Given the description of an element on the screen output the (x, y) to click on. 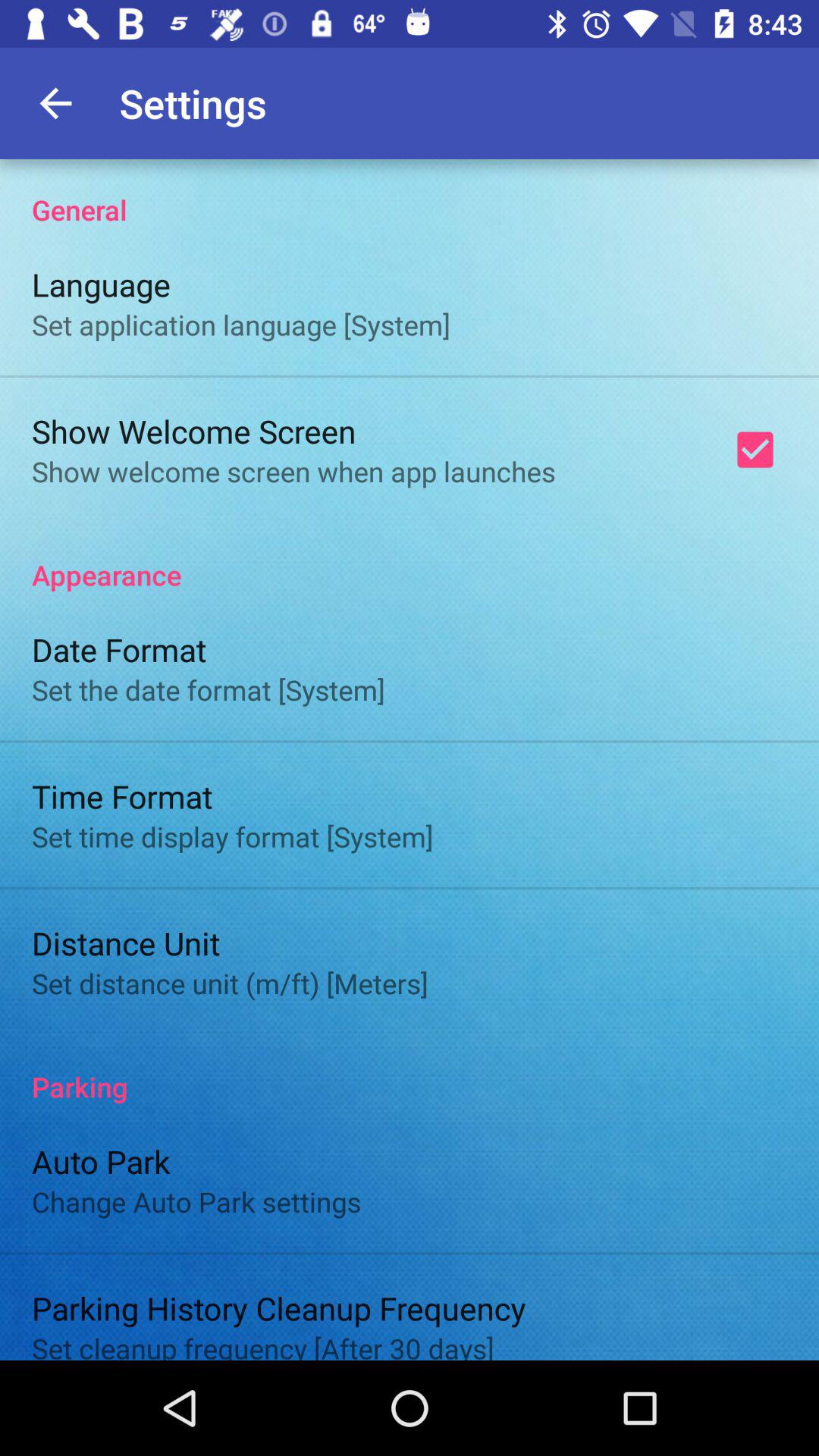
turn on the item below the general item (755, 449)
